Given the description of an element on the screen output the (x, y) to click on. 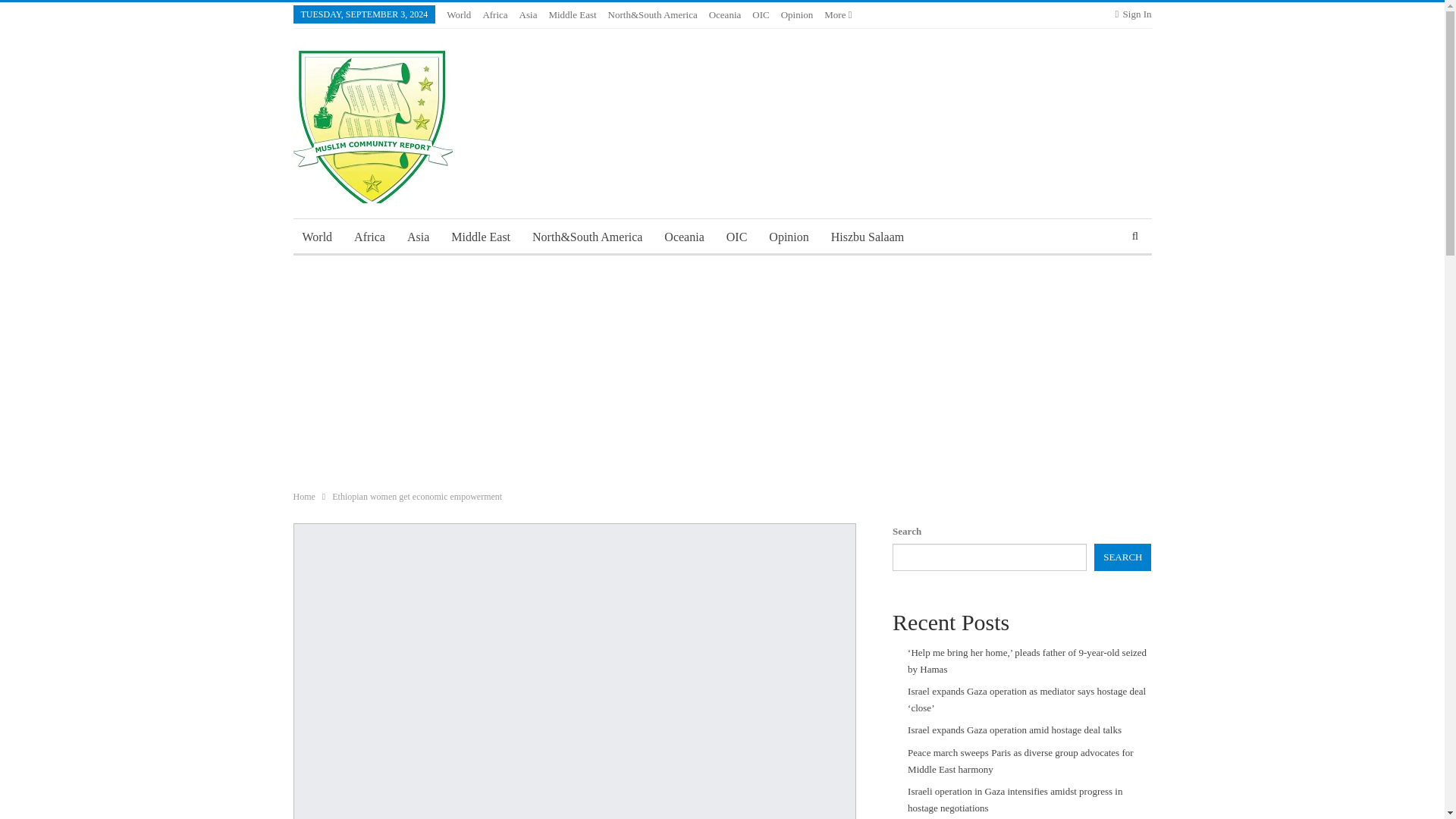
Africa (369, 237)
Africa (493, 14)
OIC (760, 14)
Middle East (480, 237)
Oceania (725, 14)
Opinion (796, 14)
World (316, 237)
Opinion (788, 237)
Oceania (684, 237)
